Given the description of an element on the screen output the (x, y) to click on. 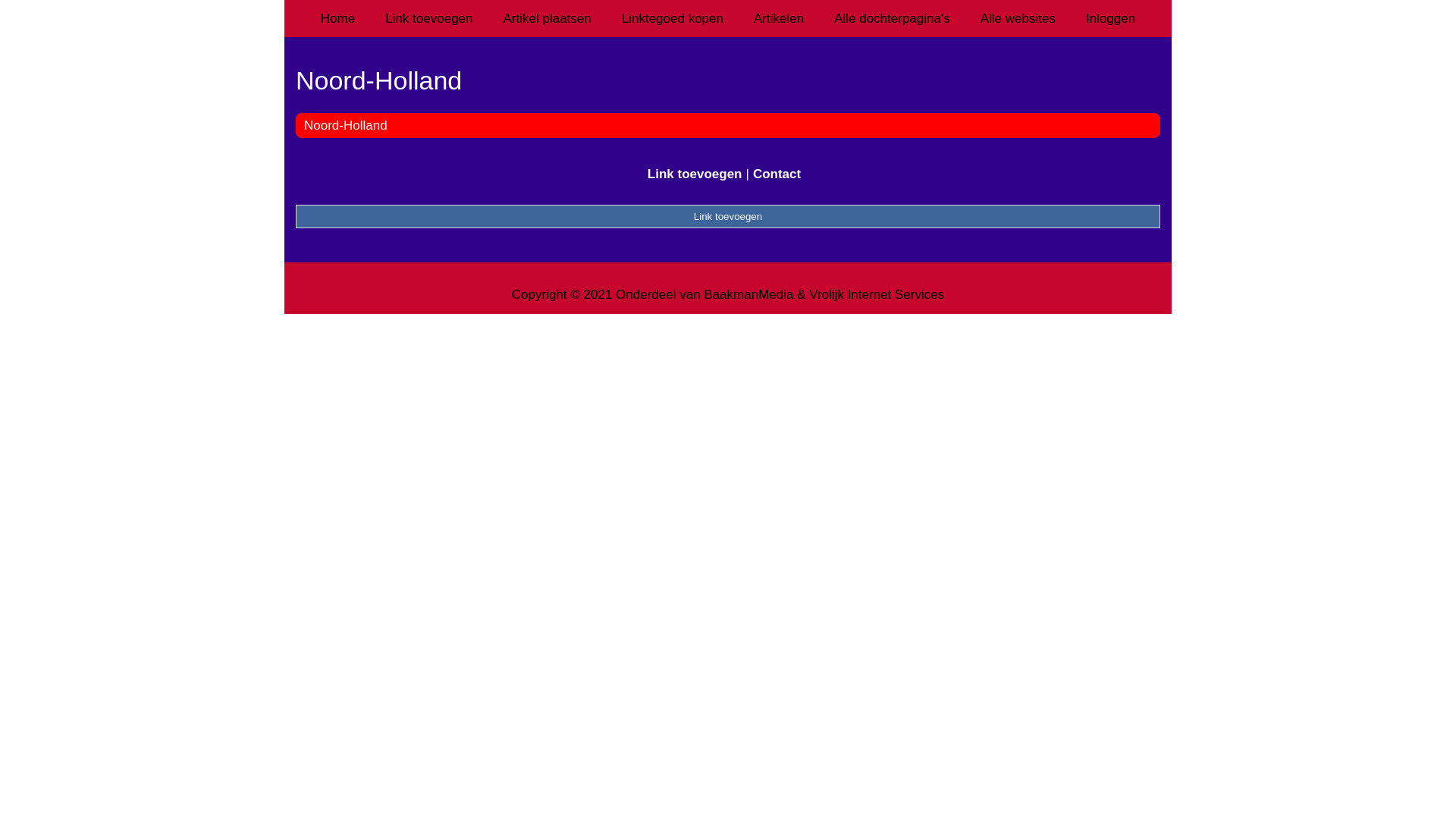
Alle websites Element type: text (1017, 18)
Contact Element type: text (776, 173)
Linktegoed kopen Element type: text (672, 18)
Vrolijk Internet Services Element type: text (876, 294)
Alle dochterpagina's Element type: text (892, 18)
Link toevoegen Element type: text (428, 18)
Home Element type: text (337, 18)
Inloggen Element type: text (1110, 18)
Artikel plaatsen Element type: text (547, 18)
Artikelen Element type: text (778, 18)
Link toevoegen Element type: text (727, 215)
BaakmanMedia Element type: text (748, 294)
Link toevoegen Element type: text (694, 173)
Noord-Holland Element type: text (727, 80)
Noord-Holland Element type: text (345, 125)
